Given the description of an element on the screen output the (x, y) to click on. 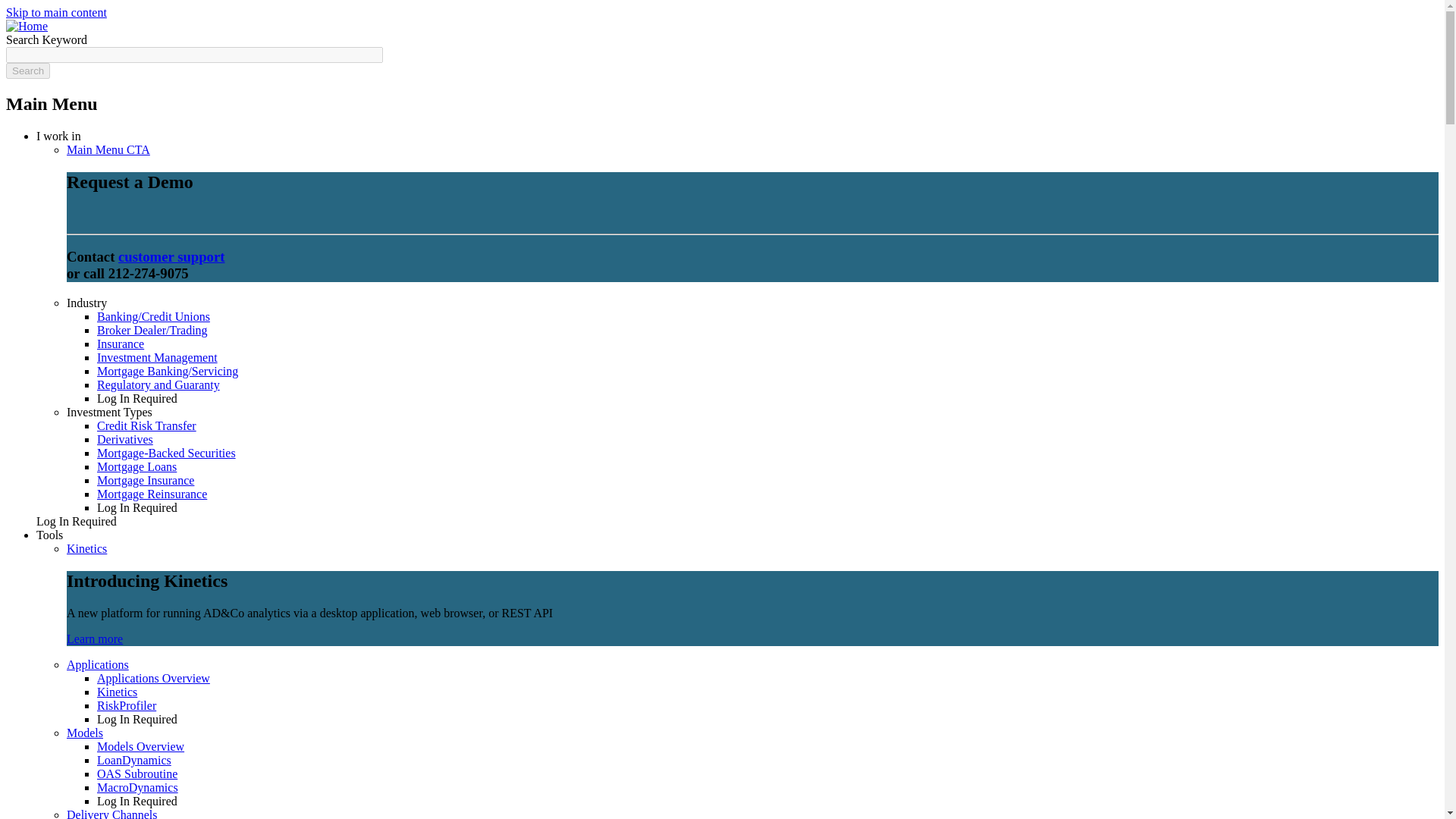
MacroDynamics (137, 787)
Credit Risk Transfer (146, 425)
Kinetics (86, 548)
Learn more (94, 638)
customer support (170, 256)
Kinetics (116, 691)
Mortgage Loans (136, 466)
Investment Management (156, 357)
Mortgage-Backed Securities (166, 452)
Models (84, 732)
Main Menu CTA (107, 149)
RiskProfiler (126, 705)
Models Overview (140, 746)
Derivatives (124, 439)
LoanDynamics (134, 759)
